Given the description of an element on the screen output the (x, y) to click on. 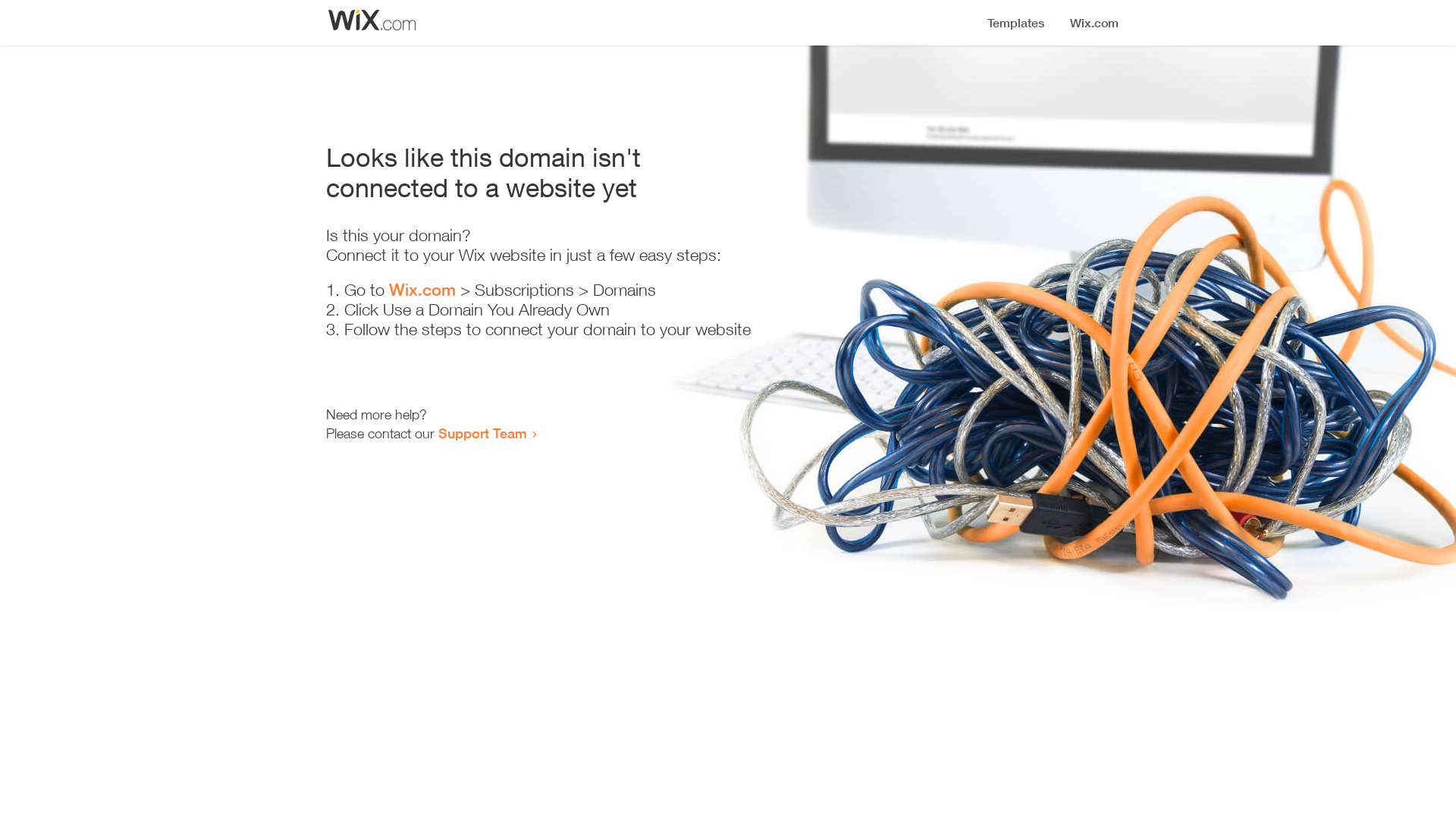
Wix.com Element type: text (422, 289)
Support Team Element type: text (482, 432)
